Given the description of an element on the screen output the (x, y) to click on. 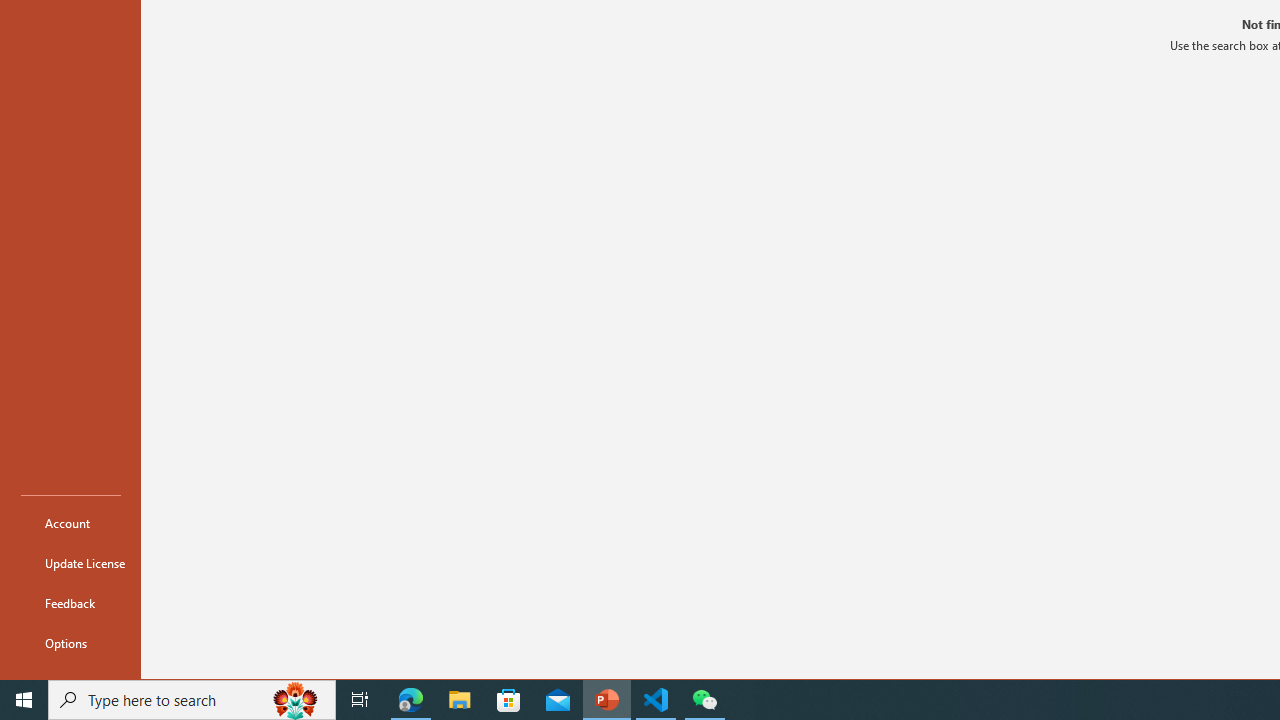
Account (70, 522)
Update License (70, 562)
Options (70, 642)
Feedback (70, 602)
